Given the description of an element on the screen output the (x, y) to click on. 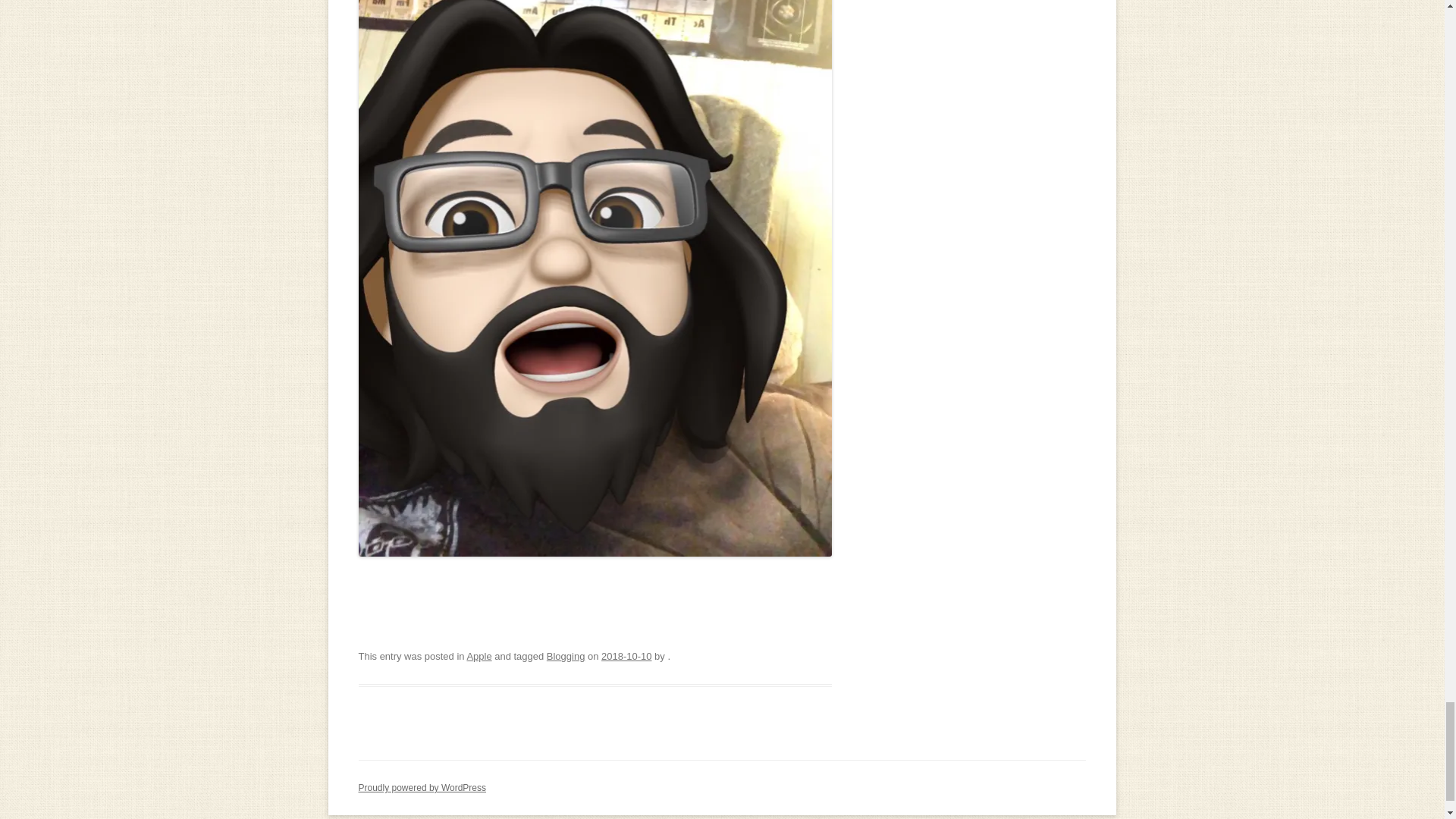
Apple (478, 655)
6:51 pm (625, 655)
2018-10-10 (625, 655)
Semantic Personal Publishing Platform (422, 787)
Blogging (566, 655)
